Given the description of an element on the screen output the (x, y) to click on. 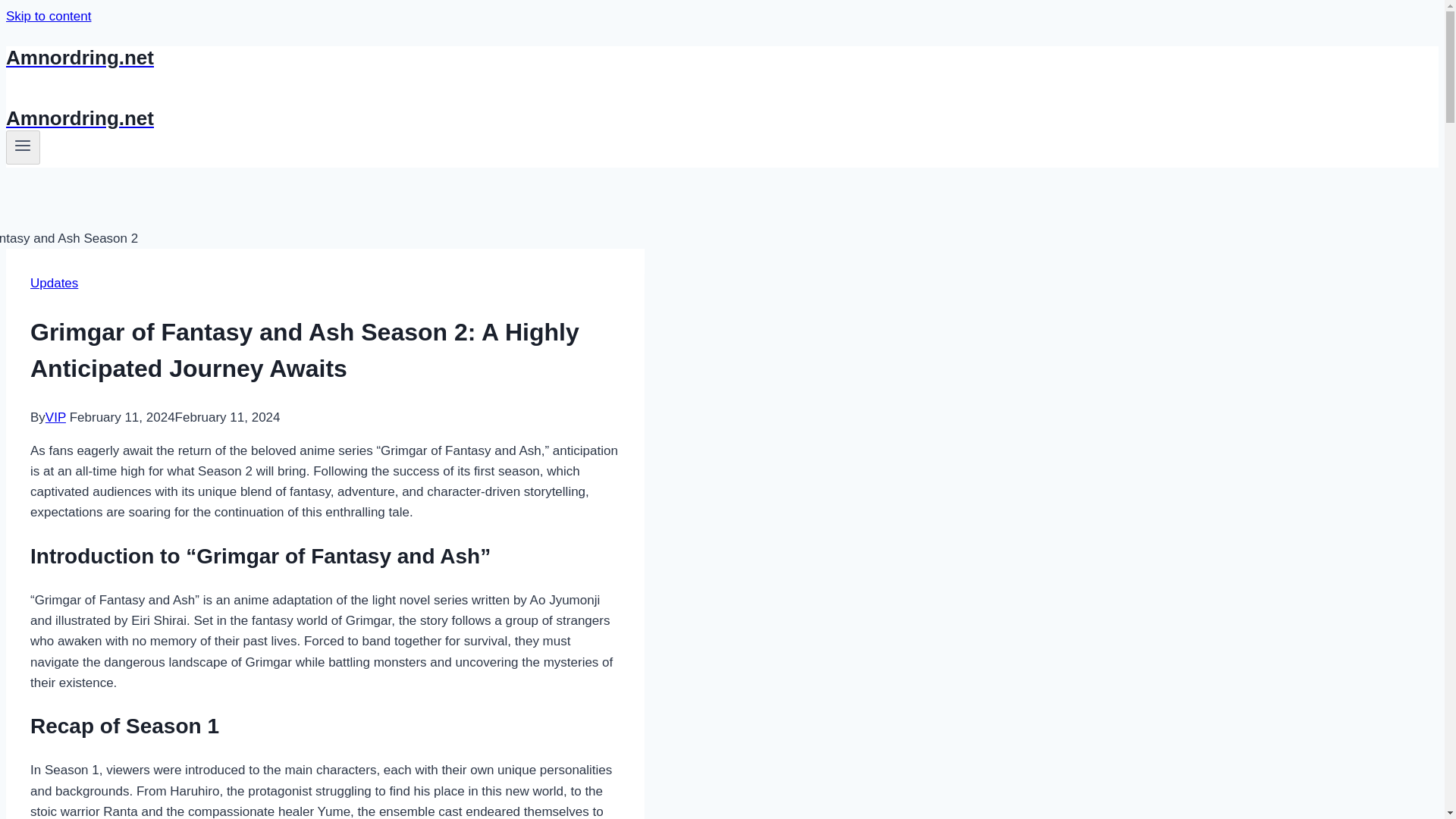
Skip to content (47, 16)
Amnordring.net (494, 57)
Amnordring.net (494, 118)
Updates (54, 283)
Skip to content (47, 16)
Toggle Menu (22, 146)
VIP (55, 417)
Toggle Menu (22, 145)
